Given the description of an element on the screen output the (x, y) to click on. 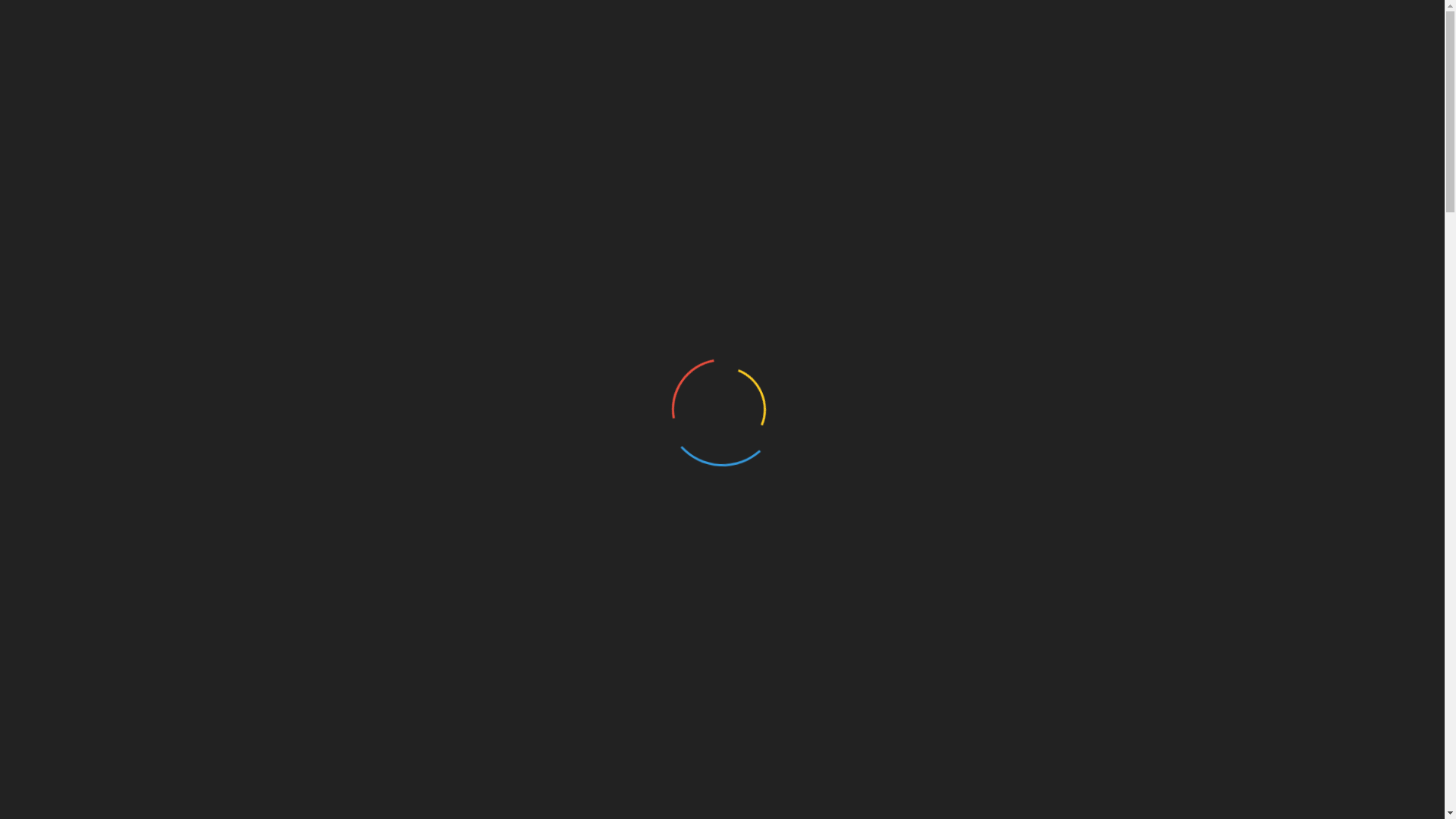
ABUIABACGAAgpfTl9QUo05fPzgUw9gQ4ogM Element type: hover (552, 606)
